Given the description of an element on the screen output the (x, y) to click on. 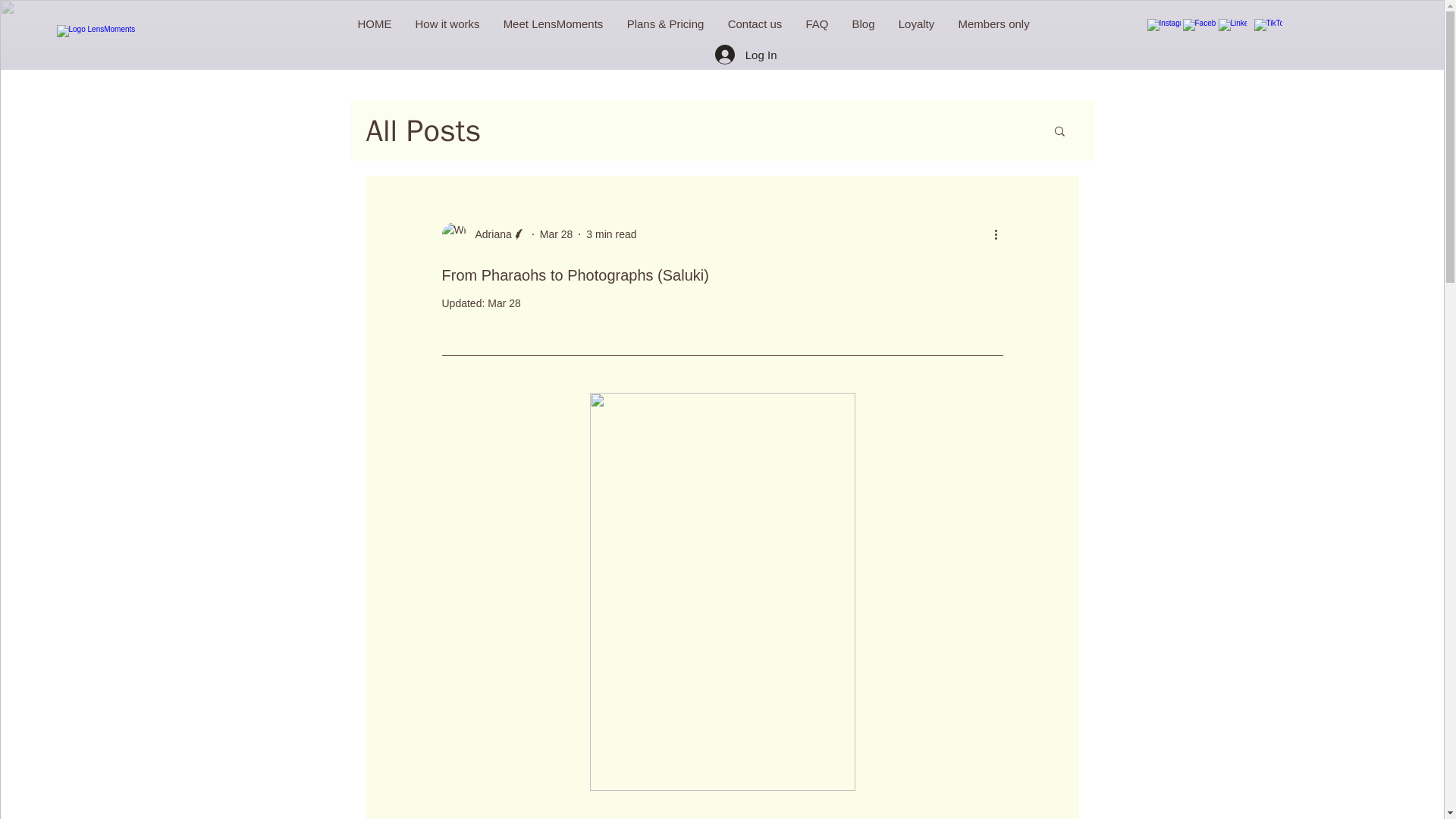
Members only (993, 23)
Adriana (488, 233)
All Posts (422, 129)
Mar 28 (556, 233)
Meet LensMoments (553, 23)
Contact us (754, 23)
Loyalty (914, 23)
Mar 28 (504, 303)
How it works (447, 23)
Blog (863, 23)
